Given the description of an element on the screen output the (x, y) to click on. 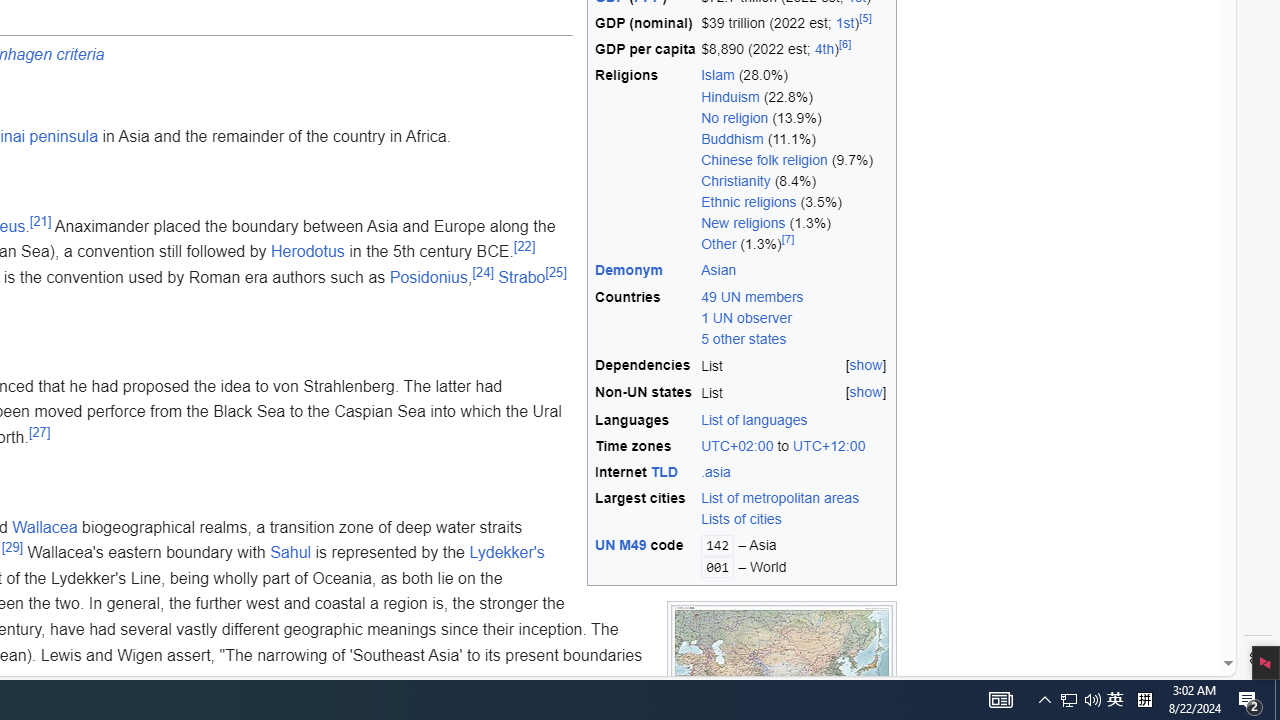
Internet TLD (645, 472)
.asia (795, 472)
List of languages (754, 419)
[show] List (795, 393)
Islam (717, 75)
List of metropolitan areas (795, 498)
Ethnic religions (3.5%) (795, 202)
Islam (28.0%) (795, 75)
Wallacea (44, 526)
Languages (645, 420)
[5] (864, 18)
Buddhism (11.1%) (795, 138)
Strabo (521, 276)
Time zones (645, 446)
Buddhism (732, 138)
